Given the description of an element on the screen output the (x, y) to click on. 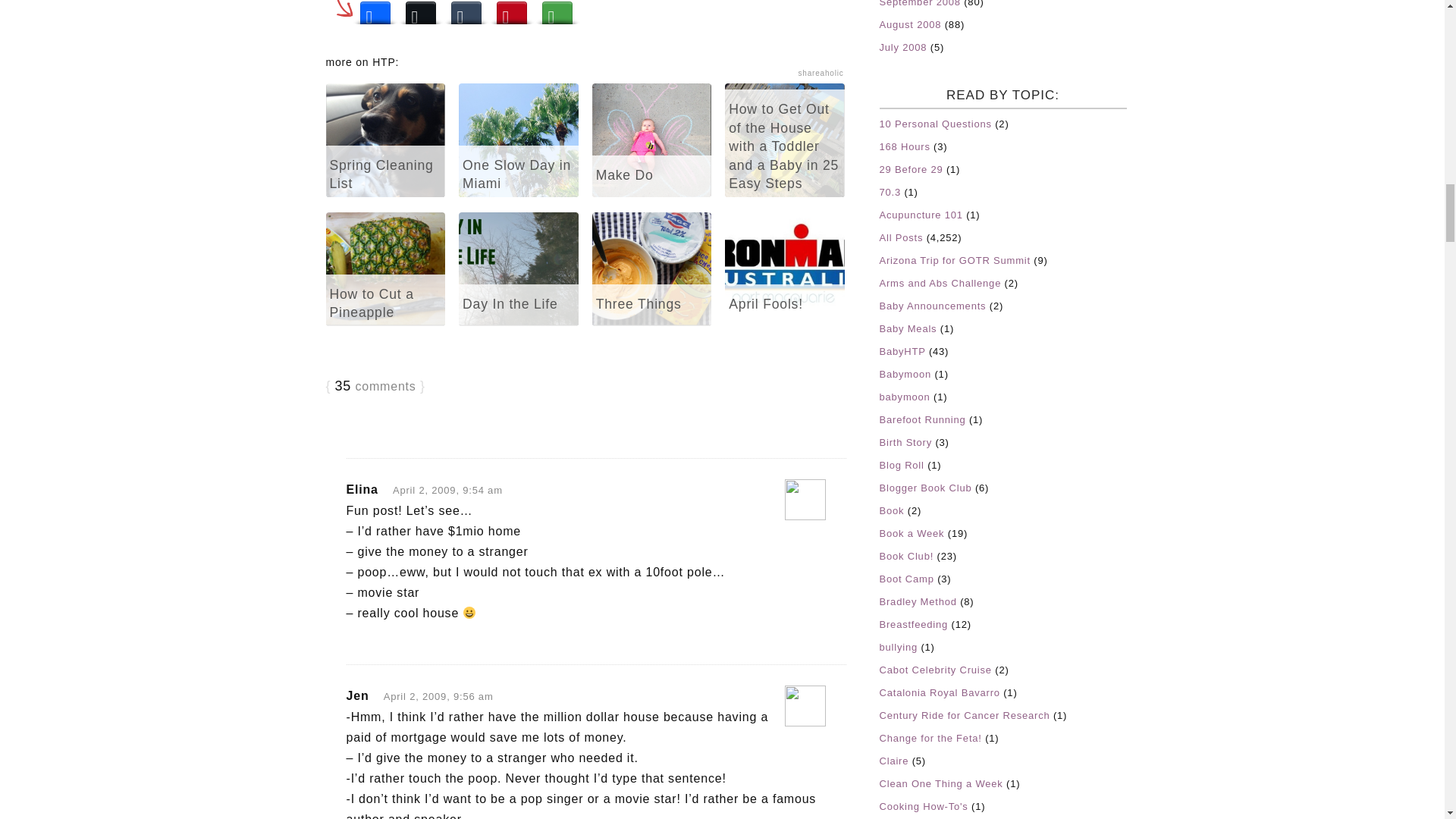
Spring Cleaning List (385, 140)
April Fools! (784, 268)
Pinterest (510, 13)
Day In the Life (518, 268)
One Slow Day in Miami (518, 140)
Tumblr (464, 13)
How to Cut a Pineapple (385, 268)
April Fools! (784, 268)
Day In the Life (518, 268)
One Slow Day in Miami (518, 140)
Spring Cleaning List (385, 140)
Make Do (651, 140)
Facebook (374, 13)
